Given the description of an element on the screen output the (x, y) to click on. 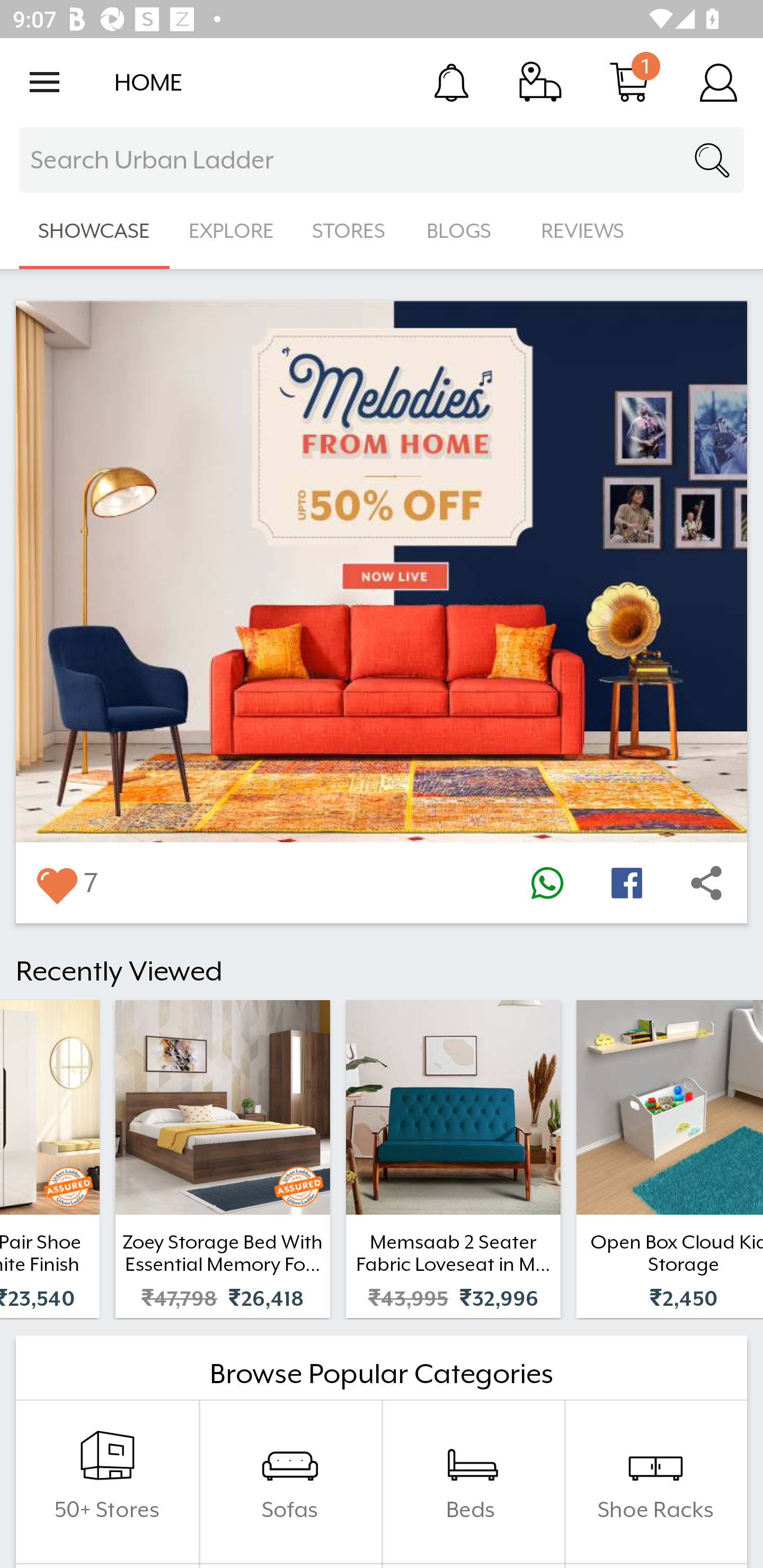
Open navigation drawer (44, 82)
Notification (450, 81)
Track Order (540, 81)
Cart (629, 81)
Account Details (718, 81)
Search Urban Ladder  (381, 159)
SHOWCASE (94, 230)
EXPLORE (230, 230)
STORES (349, 230)
BLOGS (464, 230)
REVIEWS (582, 230)
 (55, 882)
 (547, 882)
 (626, 882)
 (706, 882)
Open Box Cloud Kids Storage ₹2,450 (669, 1159)
50+ Stores (106, 1481)
Sofas (289, 1481)
Beds  (473, 1481)
Shoe Racks (655, 1481)
